Given the description of an element on the screen output the (x, y) to click on. 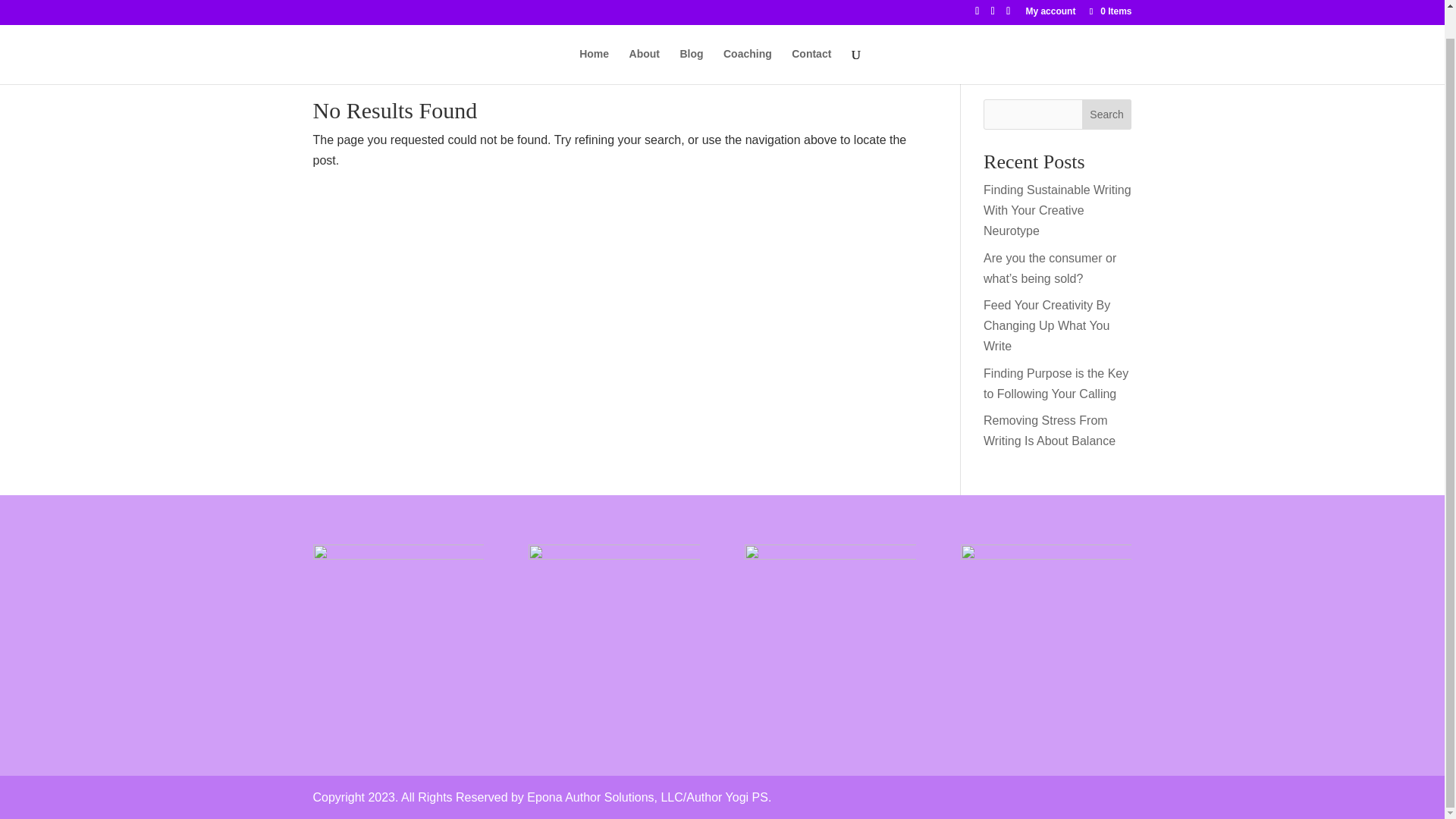
Feed Your Creativity By Changing Up What You Write (1046, 325)
Finding Purpose is the Key to Following Your Calling (1056, 383)
Finding Sustainable Writing With Your Creative Neurotype (1057, 210)
Coaching (747, 37)
Contact (811, 37)
Search (1106, 114)
Removing Stress From Writing Is About Balance (1049, 430)
